Given the description of an element on the screen output the (x, y) to click on. 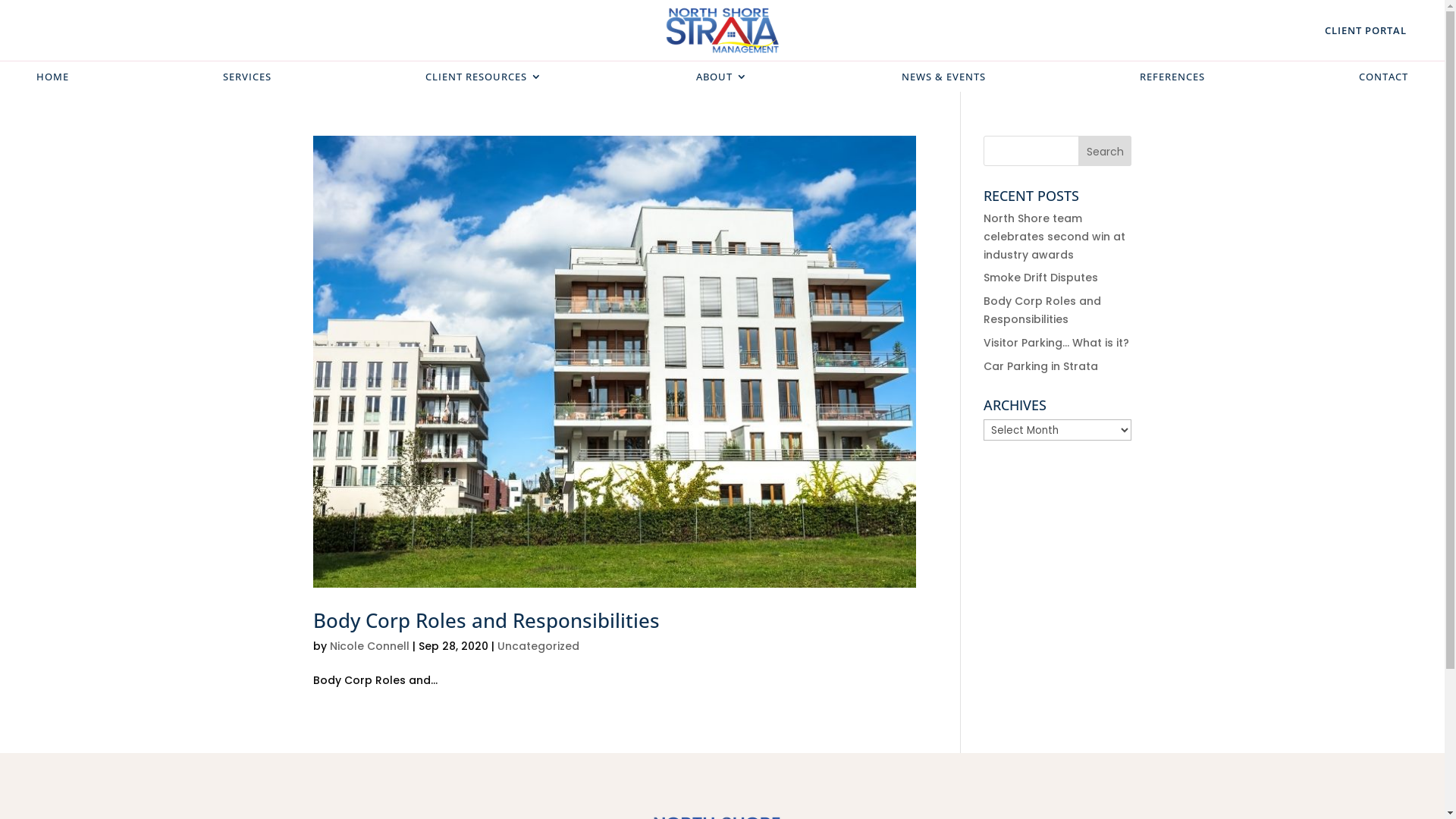
Body Corp Roles and Responsibilities Element type: text (1042, 309)
Smoke Drift Disputes Element type: text (1040, 277)
Search Element type: text (1105, 150)
North Shore Strata Management Element type: hover (722, 30)
NEWS & EVENTS Element type: text (943, 79)
Body Corp Roles and Responsibilities Element type: text (485, 619)
SERVICES Element type: text (246, 79)
Nicole Connell Element type: text (368, 645)
CONTACT Element type: text (1383, 79)
North Shore team celebrates second win at industry awards Element type: text (1054, 236)
CLIENT PORTAL Element type: text (1357, 29)
ABOUT Element type: text (721, 79)
HOME Element type: text (52, 79)
REFERENCES Element type: text (1171, 79)
CLIENT RESOURCES Element type: text (483, 79)
Car Parking in Strata Element type: text (1040, 365)
Uncategorized Element type: text (538, 645)
